Given the description of an element on the screen output the (x, y) to click on. 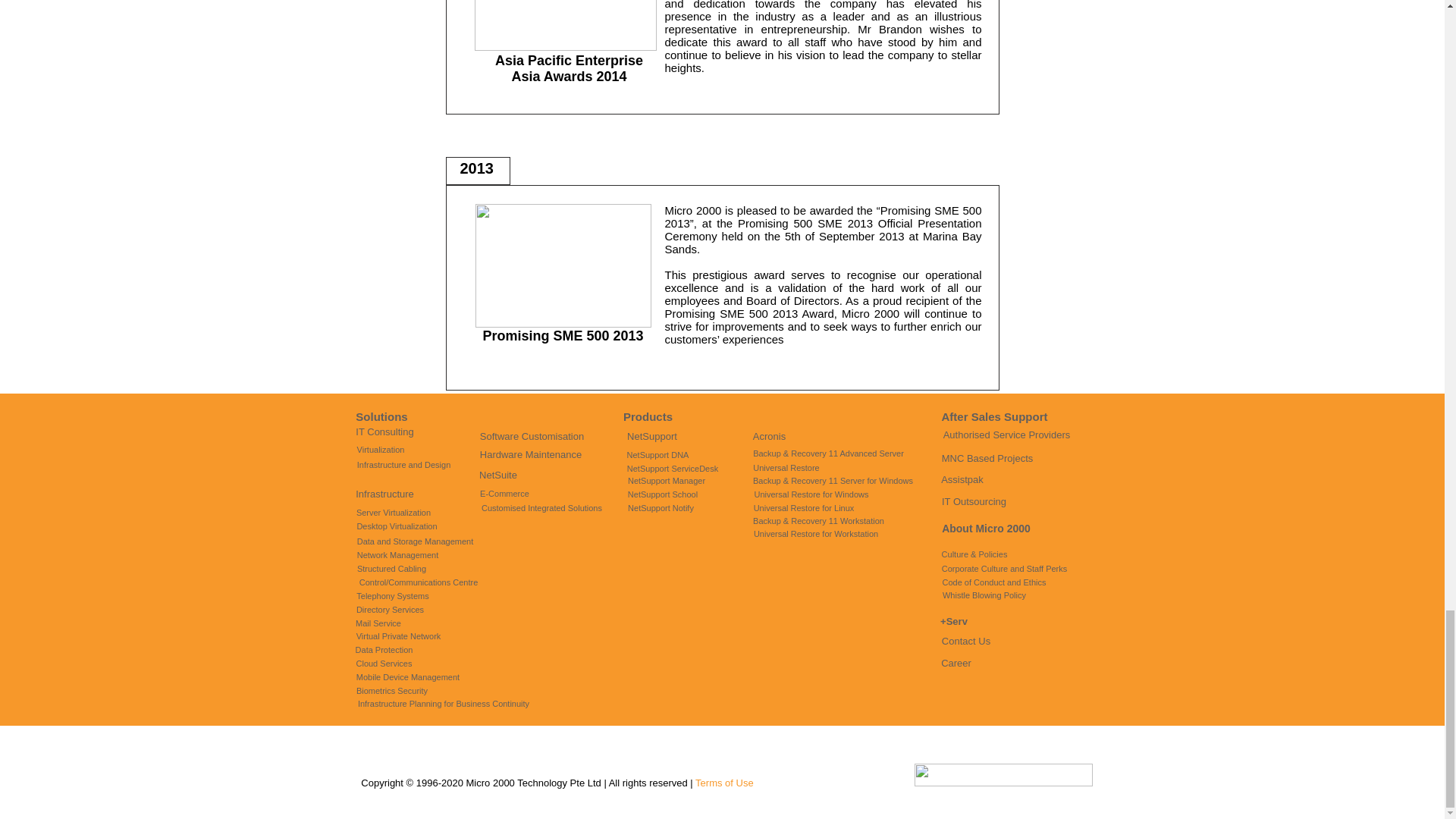
Infrastructure (384, 494)
Desktop Virtualization (396, 526)
Directory Services (389, 609)
Infrastructure Planning for Business Continuity (443, 703)
Network Management (397, 555)
Mail Service (378, 623)
Telephony Systems (392, 596)
Structured Cabling (391, 568)
Server Virtualization (393, 512)
Data and Storage Management (414, 541)
